Given the description of an element on the screen output the (x, y) to click on. 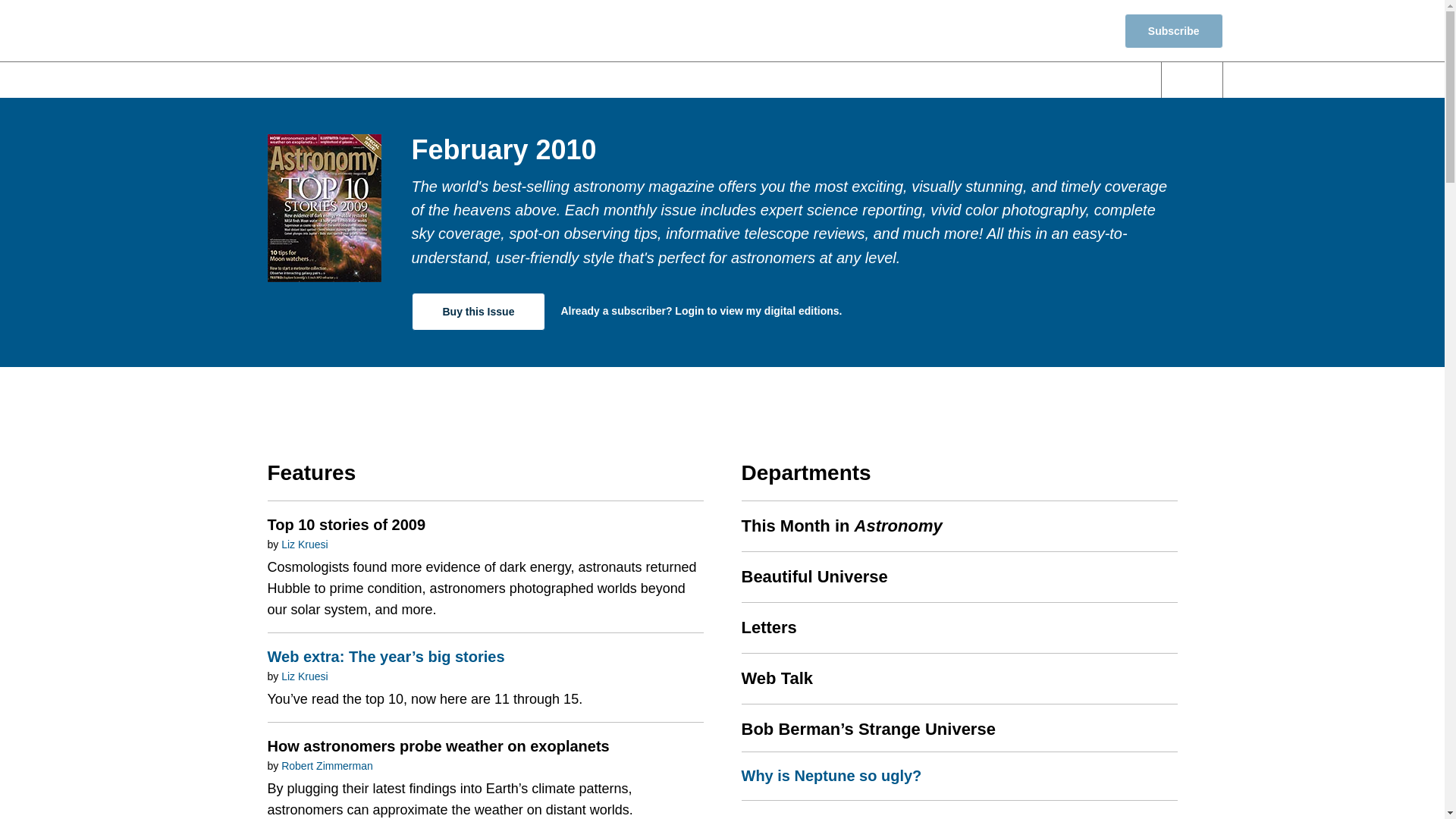
Ask Astro (1096, 79)
Science (618, 79)
Subscribe (1173, 30)
The Magazine (987, 79)
Search (1192, 79)
News (532, 79)
Shop (1081, 30)
Space Exploration (850, 79)
Observing (720, 79)
